Given the description of an element on the screen output the (x, y) to click on. 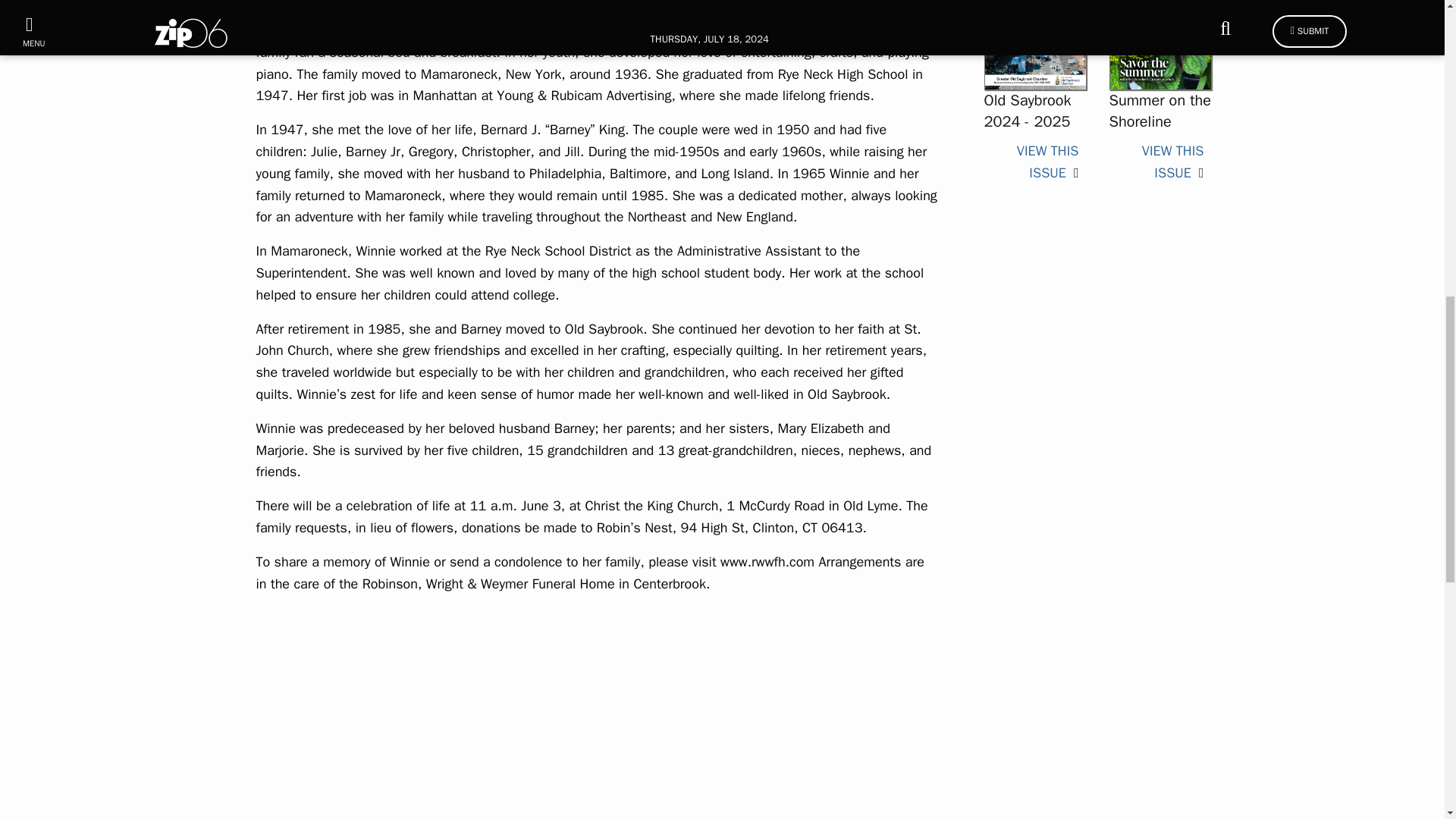
Summer on the Shoreline (1159, 110)
Old Saybrook 2024 - 2025 (1035, 21)
Old Saybrook 2024 - 2025 (1027, 110)
Old Saybrook 2024 - 2025 (1047, 161)
Summer on the Shoreline (1159, 21)
Summer on the Shoreline (1172, 161)
